Given the description of an element on the screen output the (x, y) to click on. 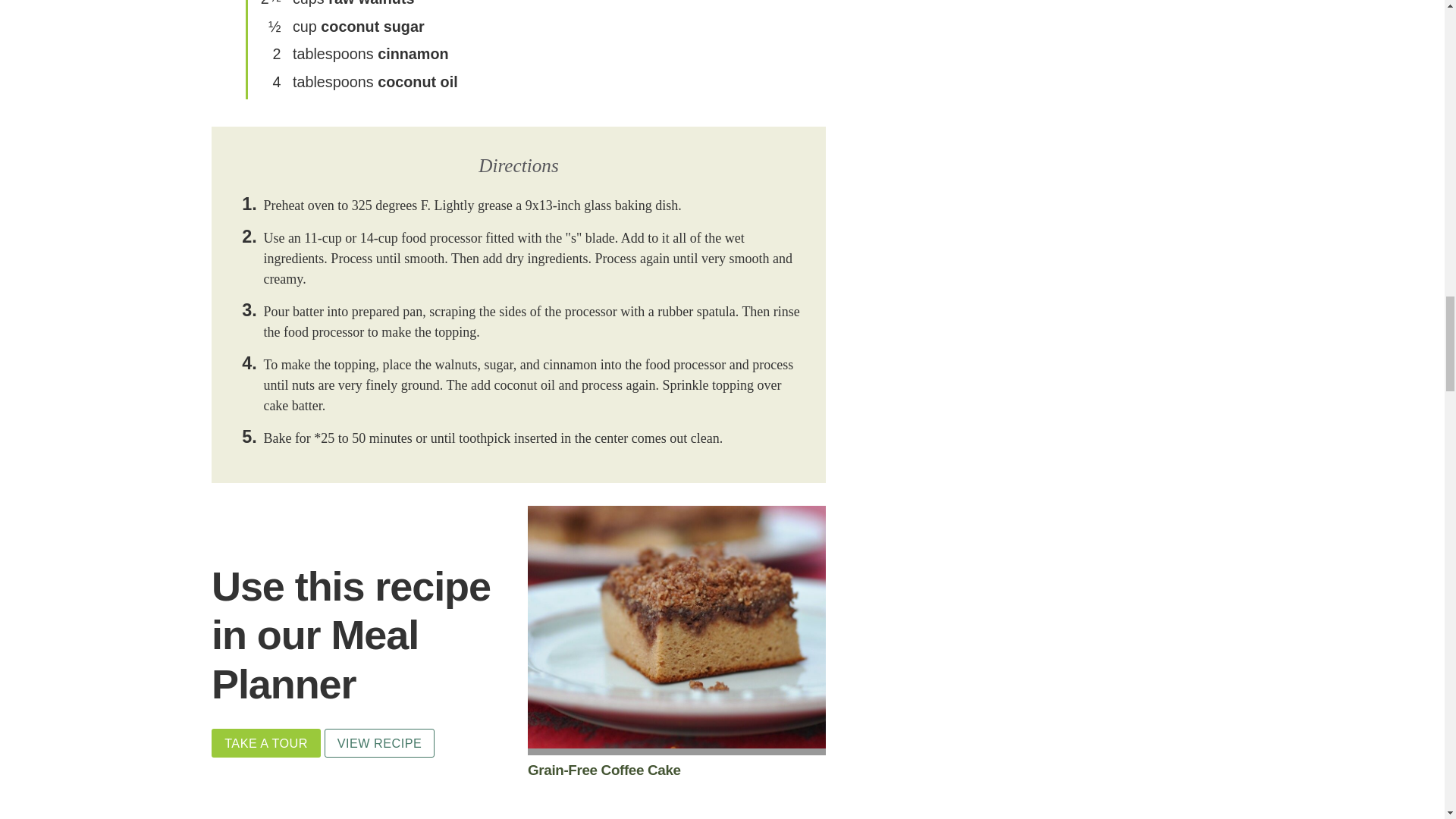
VIEW RECIPE (379, 742)
Grain-Free Coffee Cake (676, 770)
TAKE A TOUR (265, 742)
